Given the description of an element on the screen output the (x, y) to click on. 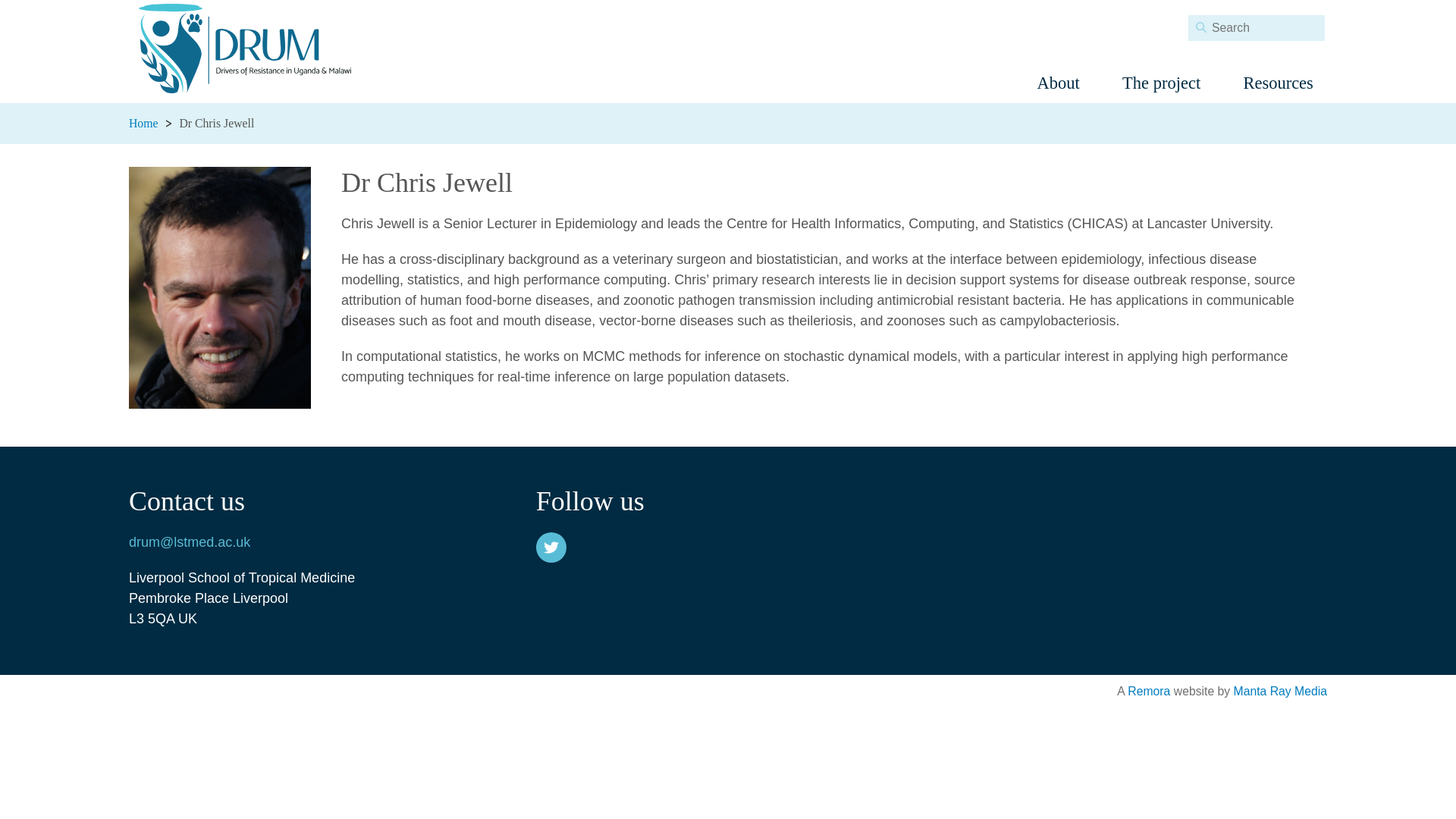
Twitter (550, 547)
Search (1201, 27)
Remora (1148, 690)
Resources (1278, 83)
Manta Ray Media (1279, 690)
The project (1160, 83)
About (1057, 83)
Search (1201, 27)
Enter the terms you wish to search for. (1255, 27)
